Given the description of an element on the screen output the (x, y) to click on. 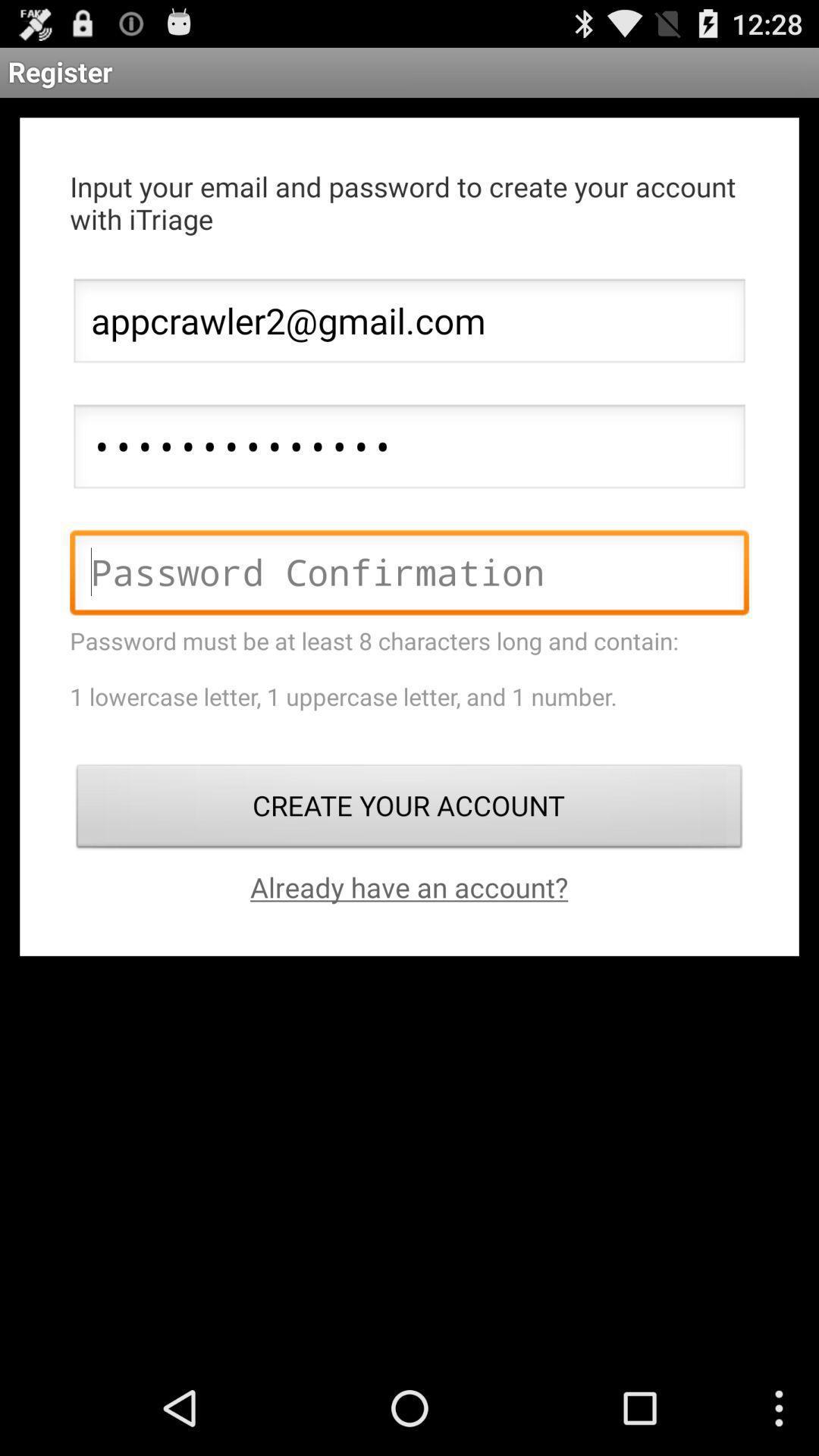
input password field (409, 576)
